Given the description of an element on the screen output the (x, y) to click on. 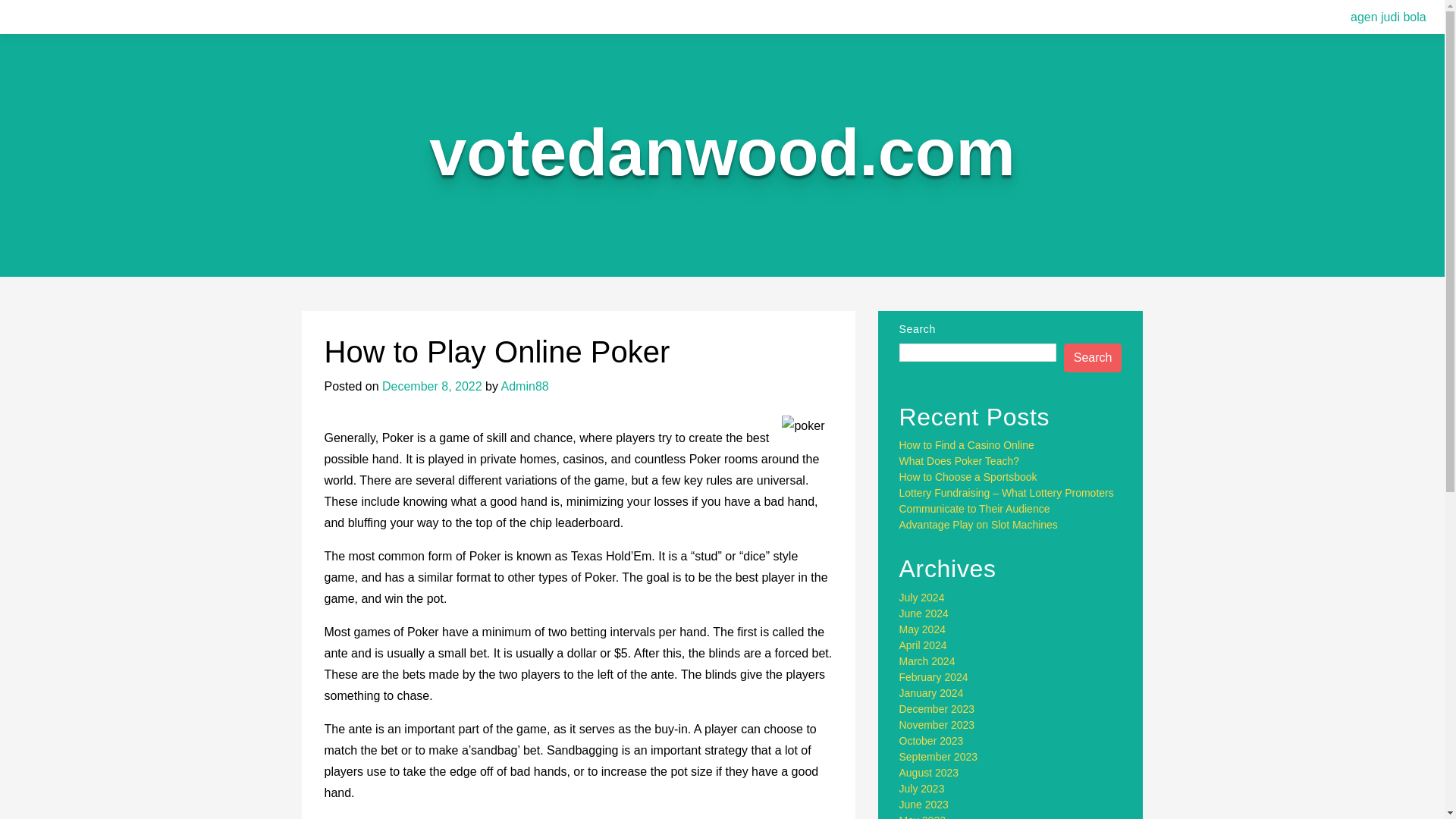
November 2023 (937, 725)
Advantage Play on Slot Machines (978, 524)
How to Find a Casino Online (966, 444)
July 2023 (921, 788)
September 2023 (938, 756)
May 2023 (921, 816)
Admin88 (524, 386)
October 2023 (931, 740)
January 2024 (931, 693)
June 2023 (924, 804)
June 2024 (924, 613)
December 2023 (937, 708)
March 2024 (927, 661)
December 8, 2022 (431, 386)
August 2023 (929, 772)
